Given the description of an element on the screen output the (x, y) to click on. 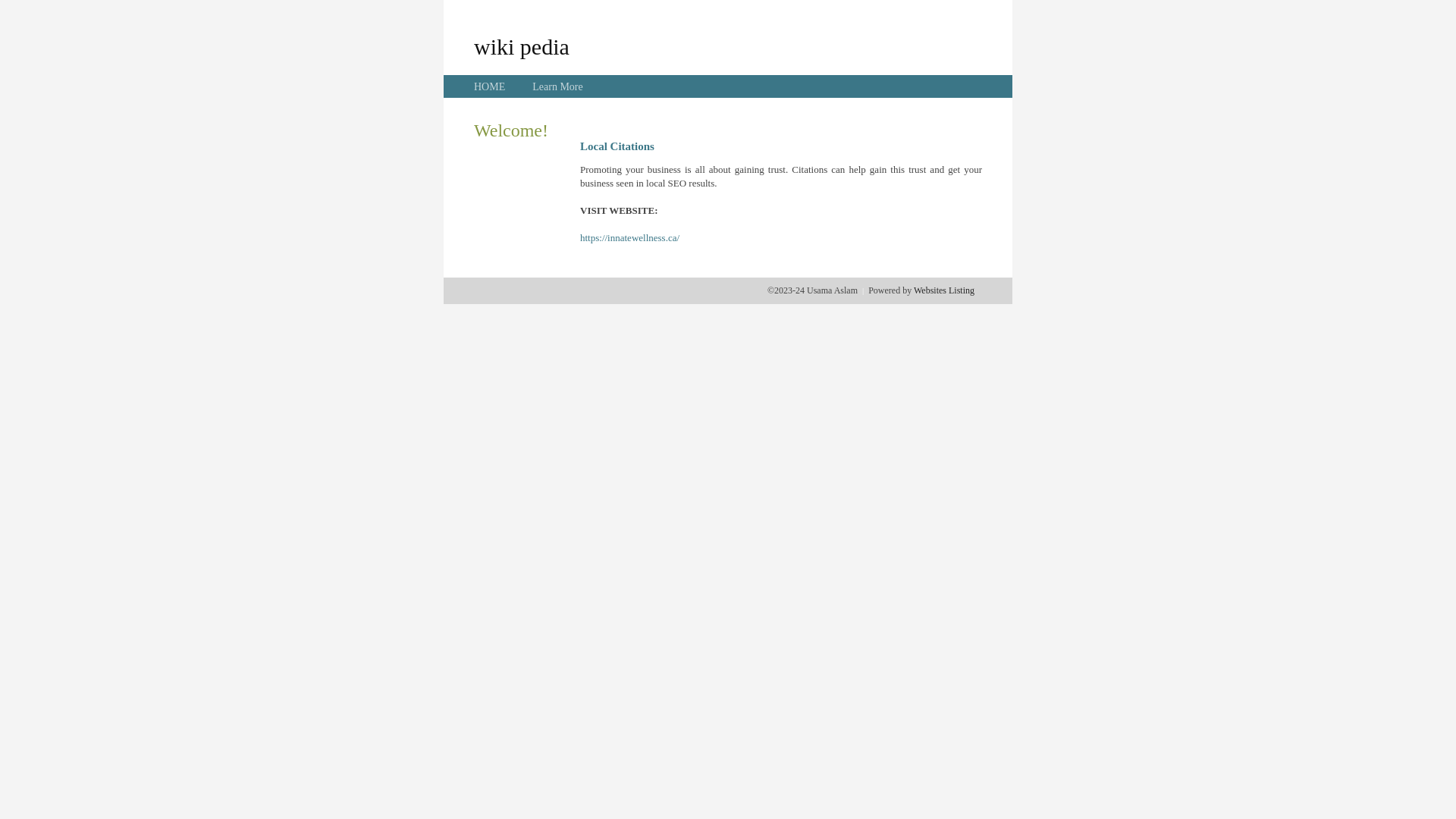
Websites Listing Element type: text (943, 290)
wiki pedia Element type: text (521, 46)
Learn More Element type: text (557, 86)
https://innatewellness.ca/ Element type: text (629, 237)
HOME Element type: text (489, 86)
